Given the description of an element on the screen output the (x, y) to click on. 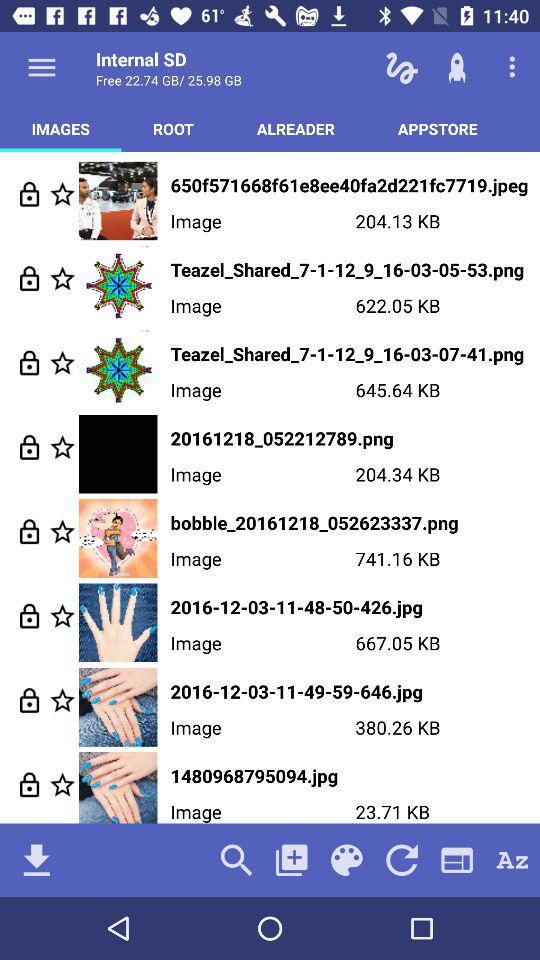
rate image (62, 446)
